Given the description of an element on the screen output the (x, y) to click on. 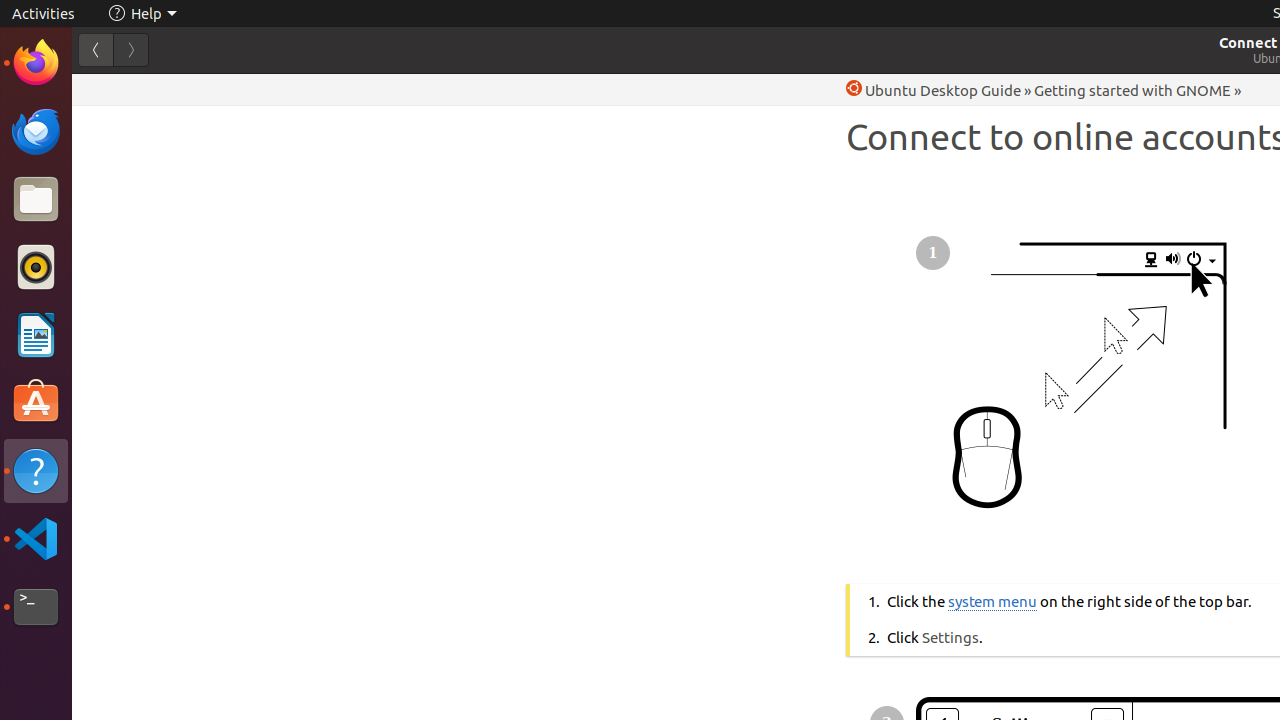
Trash Element type: label (133, 191)
Activities Element type: label (43, 13)
luyi1 Element type: label (133, 89)
